Given the description of an element on the screen output the (x, y) to click on. 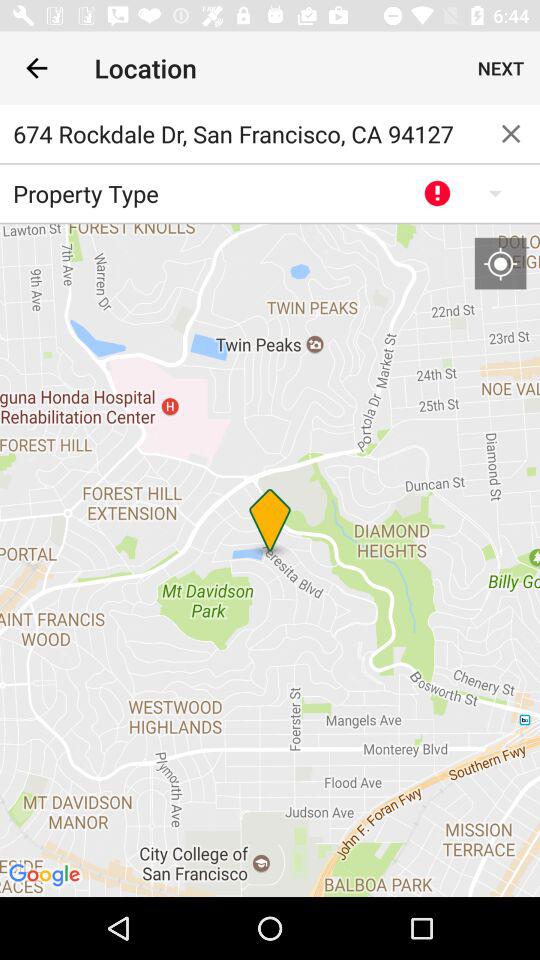
turn off the item to the left of location (36, 68)
